Given the description of an element on the screen output the (x, y) to click on. 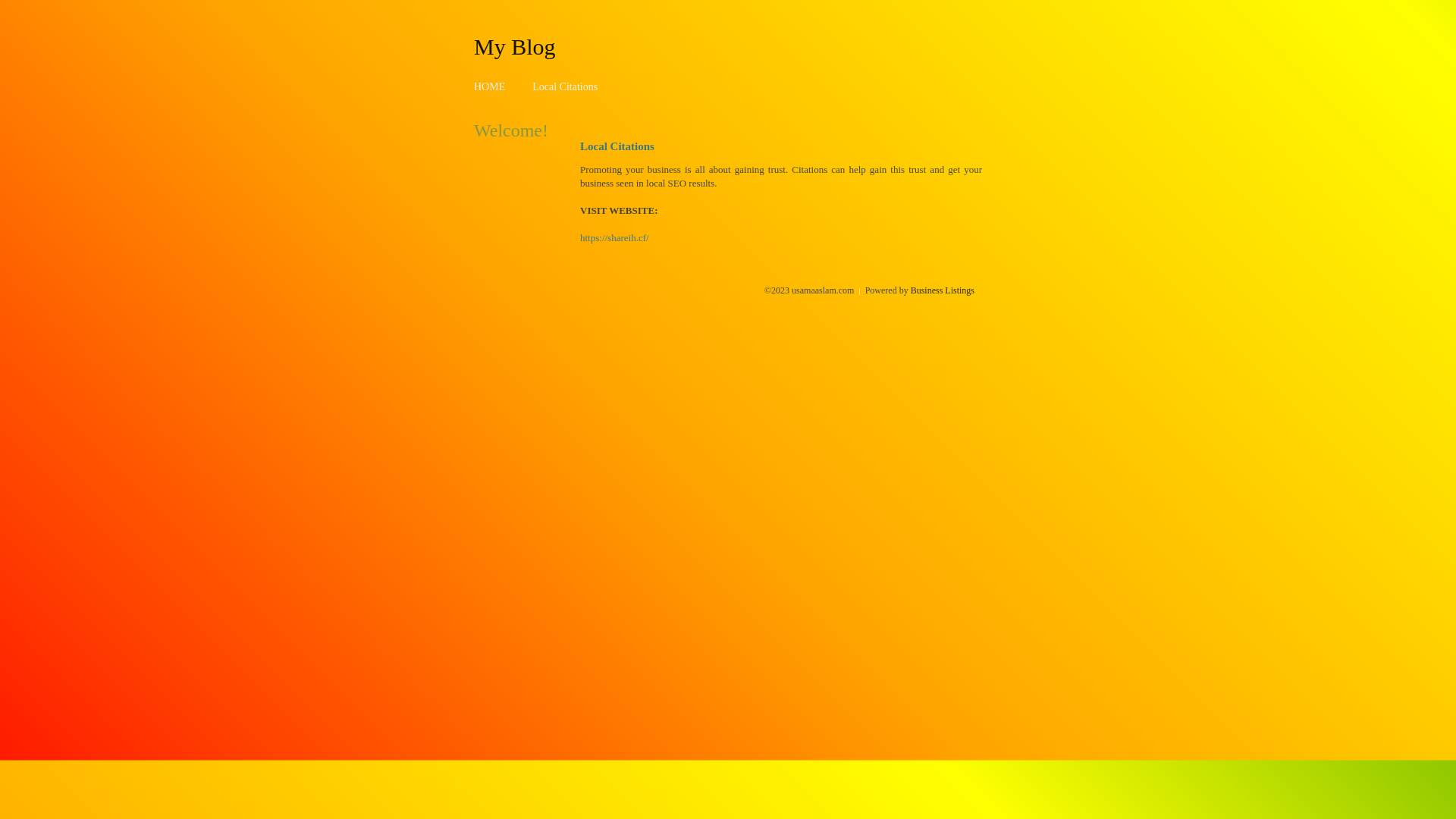
https://shareih.cf/ Element type: text (614, 237)
Business Listings Element type: text (942, 290)
Local Citations Element type: text (564, 86)
My Blog Element type: text (514, 46)
HOME Element type: text (489, 86)
